Given the description of an element on the screen output the (x, y) to click on. 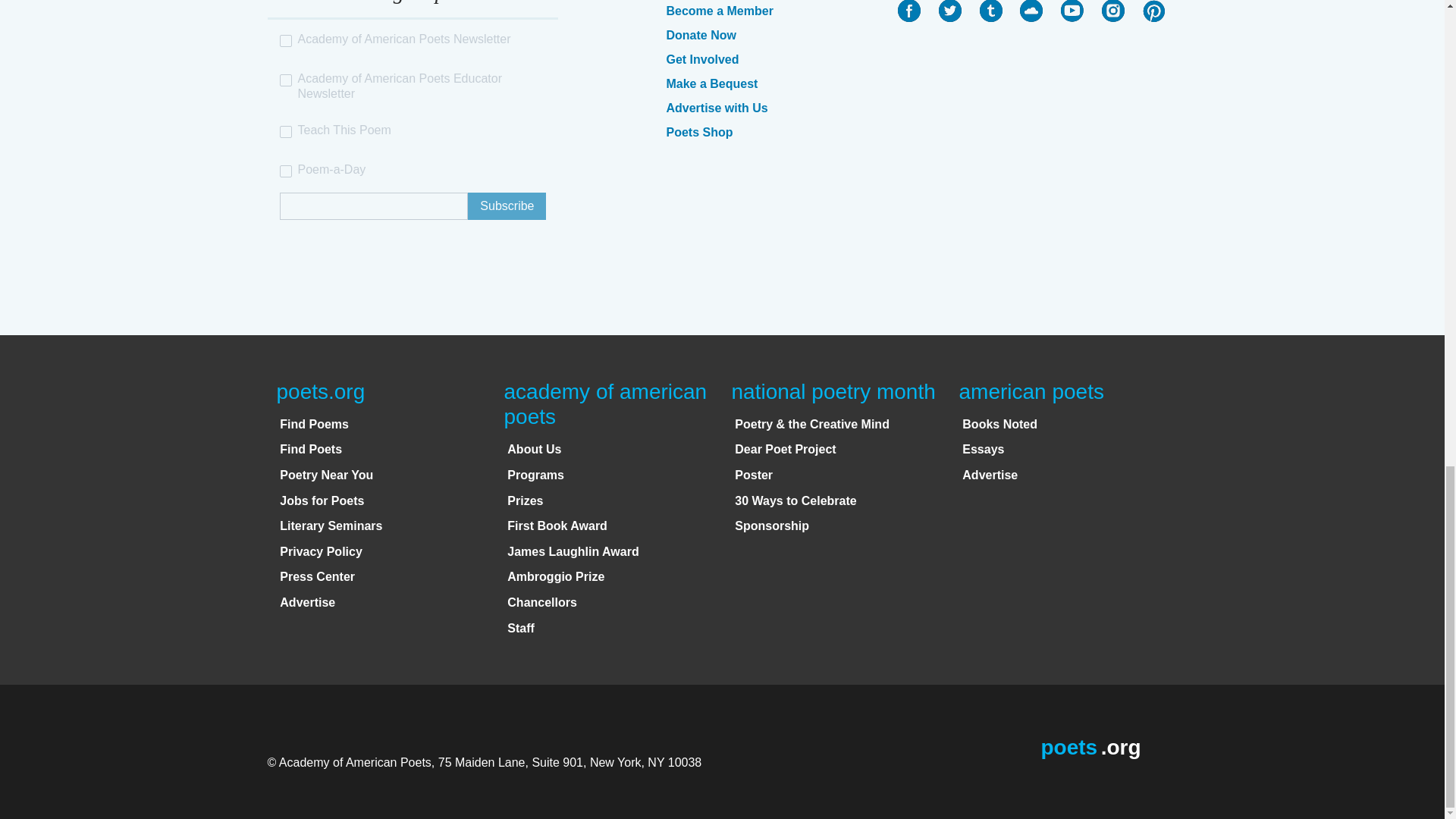
Poets Shop (698, 132)
Advertise (306, 602)
SoundCloud (1031, 11)
Facebook (909, 11)
Subscribe (506, 206)
Get Involved (701, 59)
Jobs for Poets (321, 500)
Literary Seminars (330, 525)
Privacy Policy (320, 551)
Donate Now (700, 34)
